Given the description of an element on the screen output the (x, y) to click on. 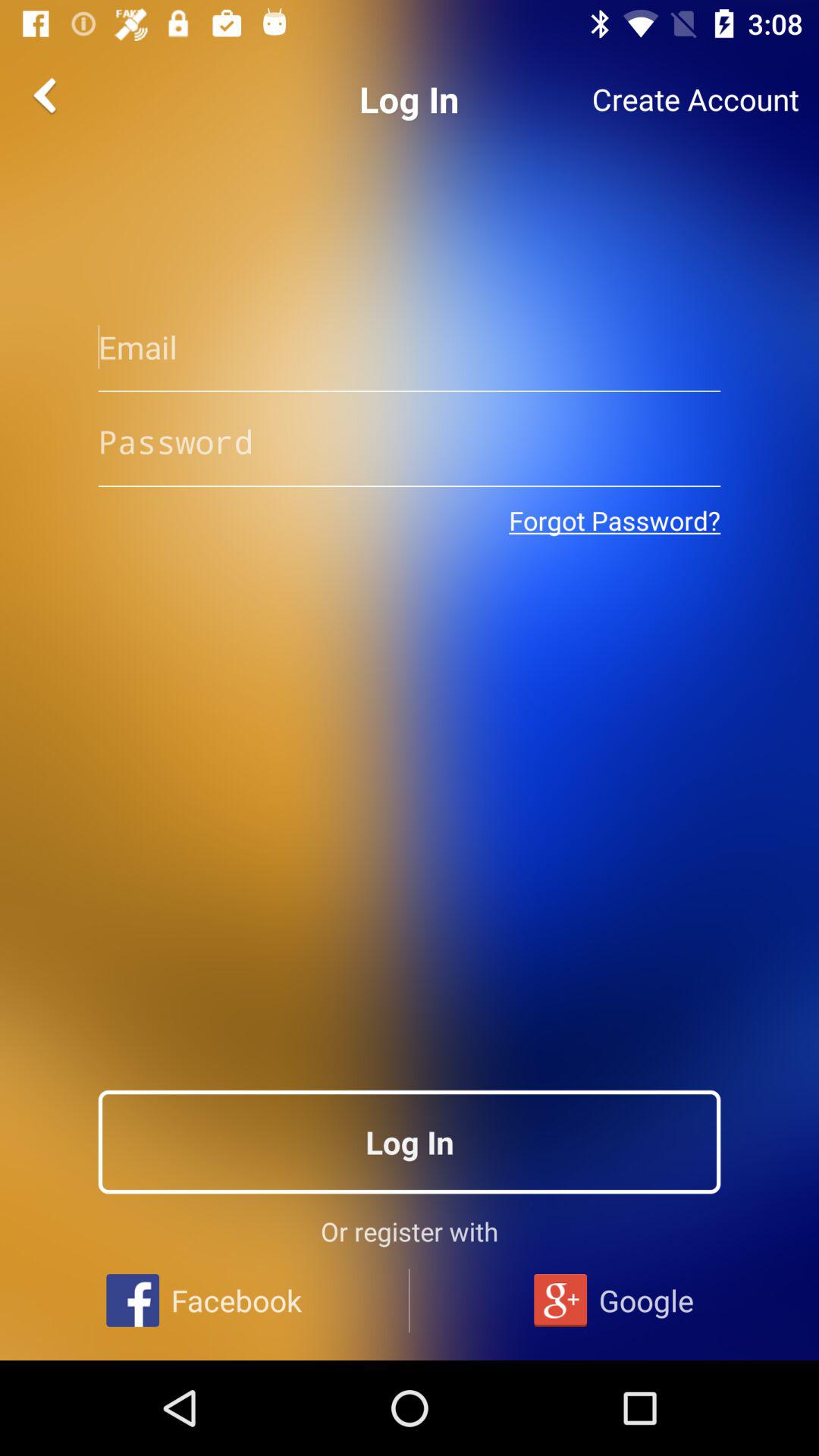
select the forgot password? icon (614, 520)
